Given the description of an element on the screen output the (x, y) to click on. 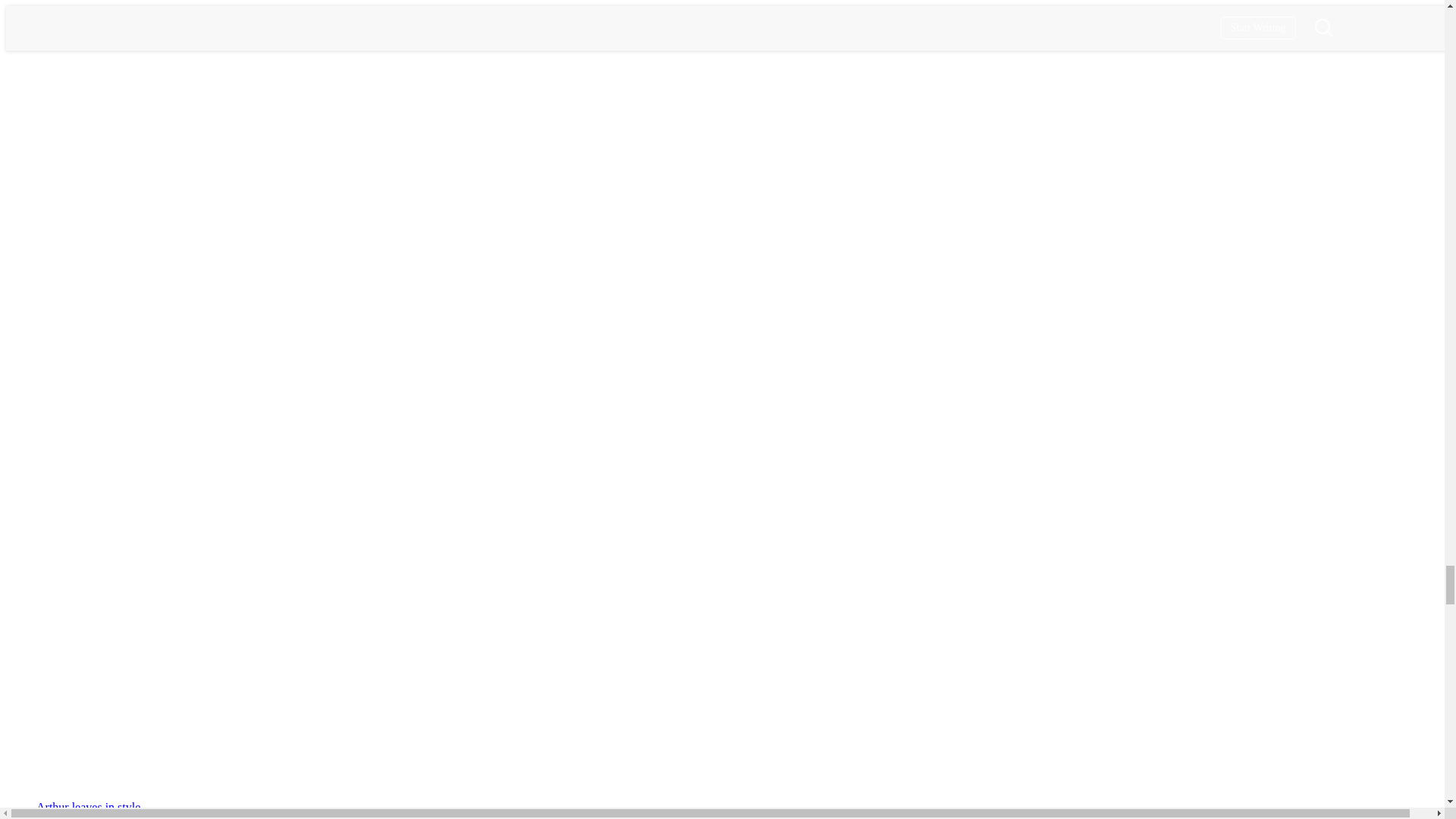
Arthur leaves in style (87, 807)
